Given the description of an element on the screen output the (x, y) to click on. 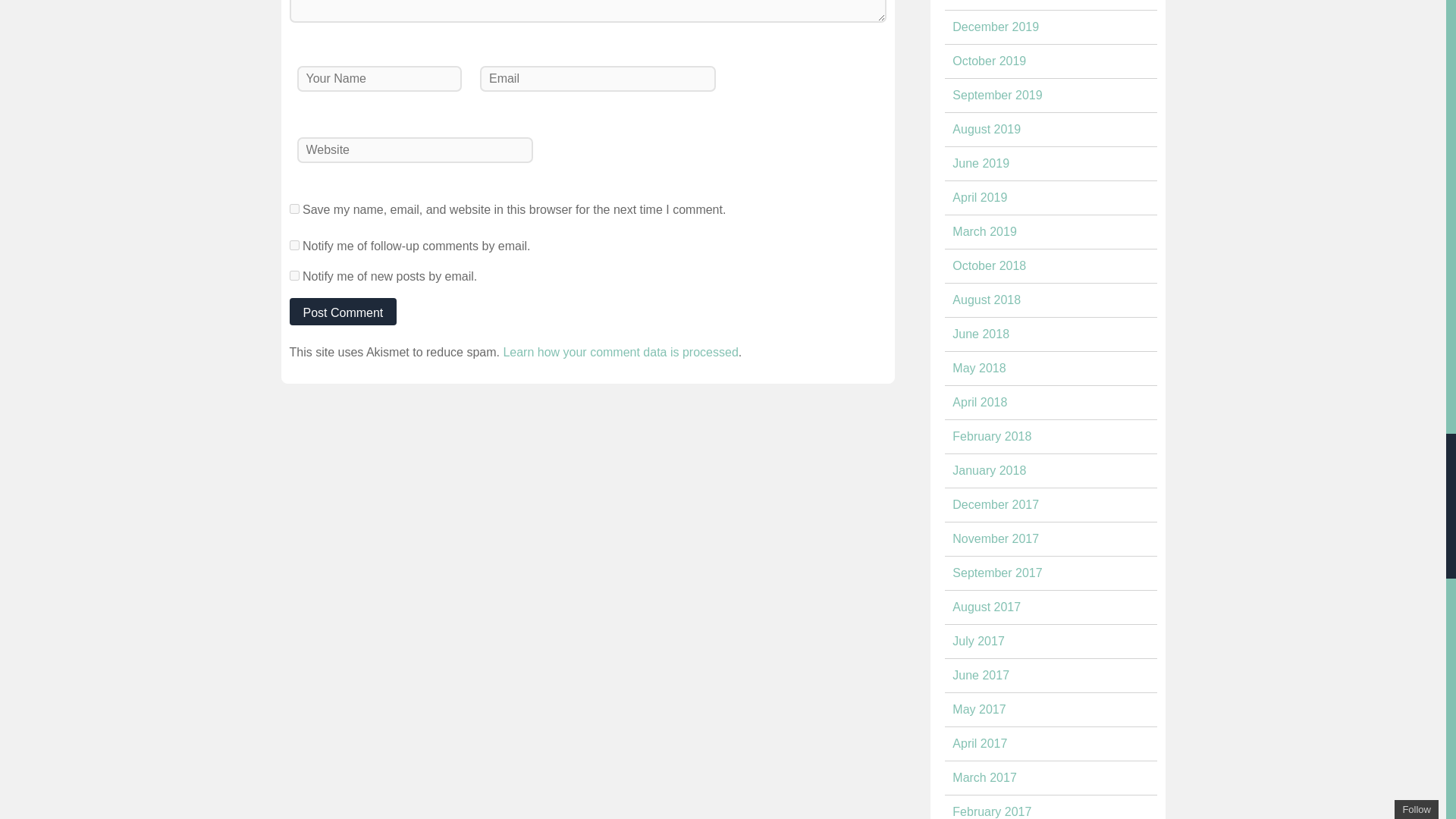
subscribe (294, 245)
Learn how your comment data is processed (620, 351)
subscribe (294, 275)
Post Comment (343, 311)
yes (294, 208)
Post Comment (343, 311)
